Given the description of an element on the screen output the (x, y) to click on. 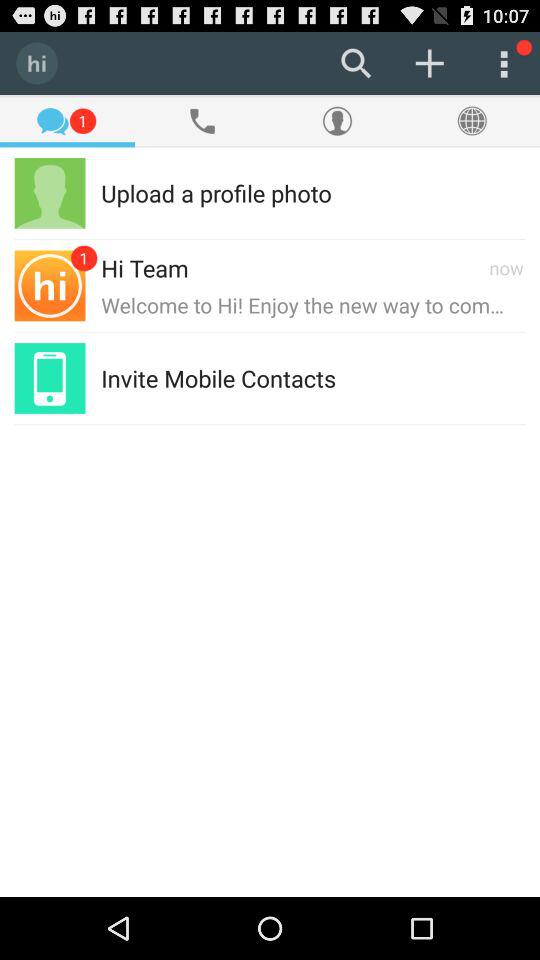
flip until the now icon (506, 267)
